Given the description of an element on the screen output the (x, y) to click on. 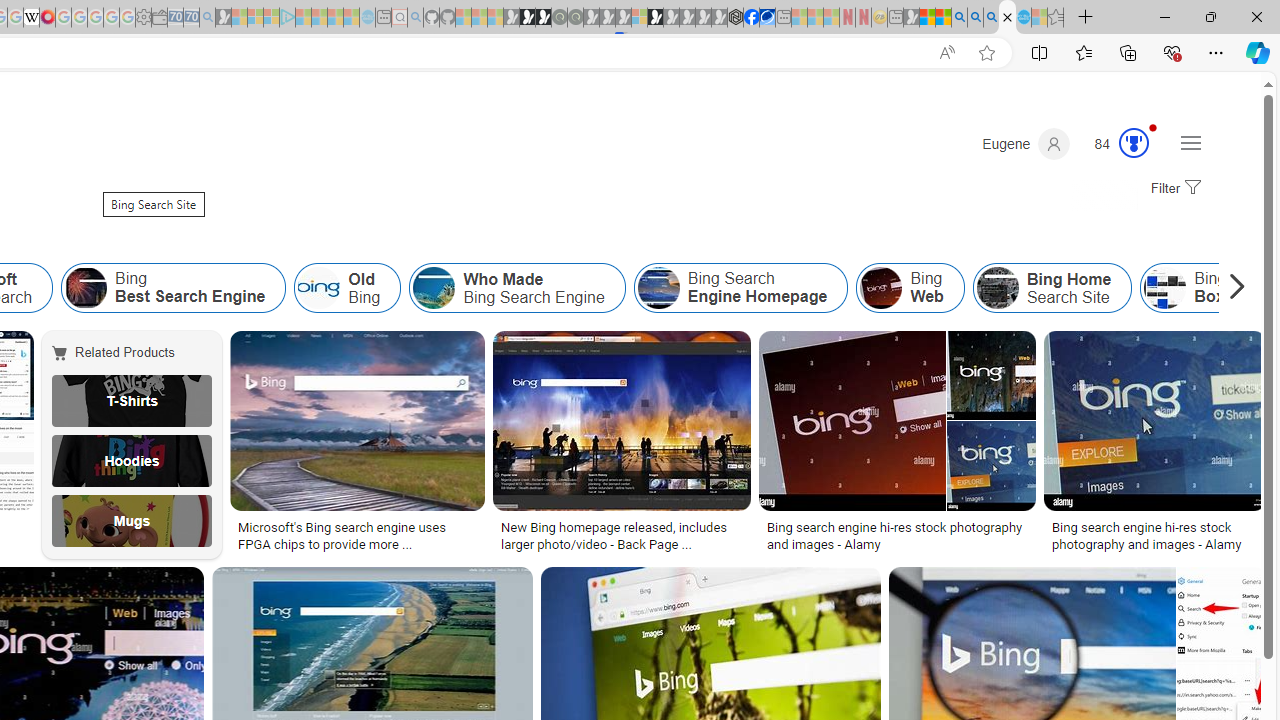
AutomationID: rh_meter (1133, 142)
AutomationID: serp_medal_svg (1133, 142)
Image result for Bing Search Site (1221, 611)
Animation (1153, 127)
Settings and quick links (1190, 142)
Old Bing (347, 287)
